Given the description of an element on the screen output the (x, y) to click on. 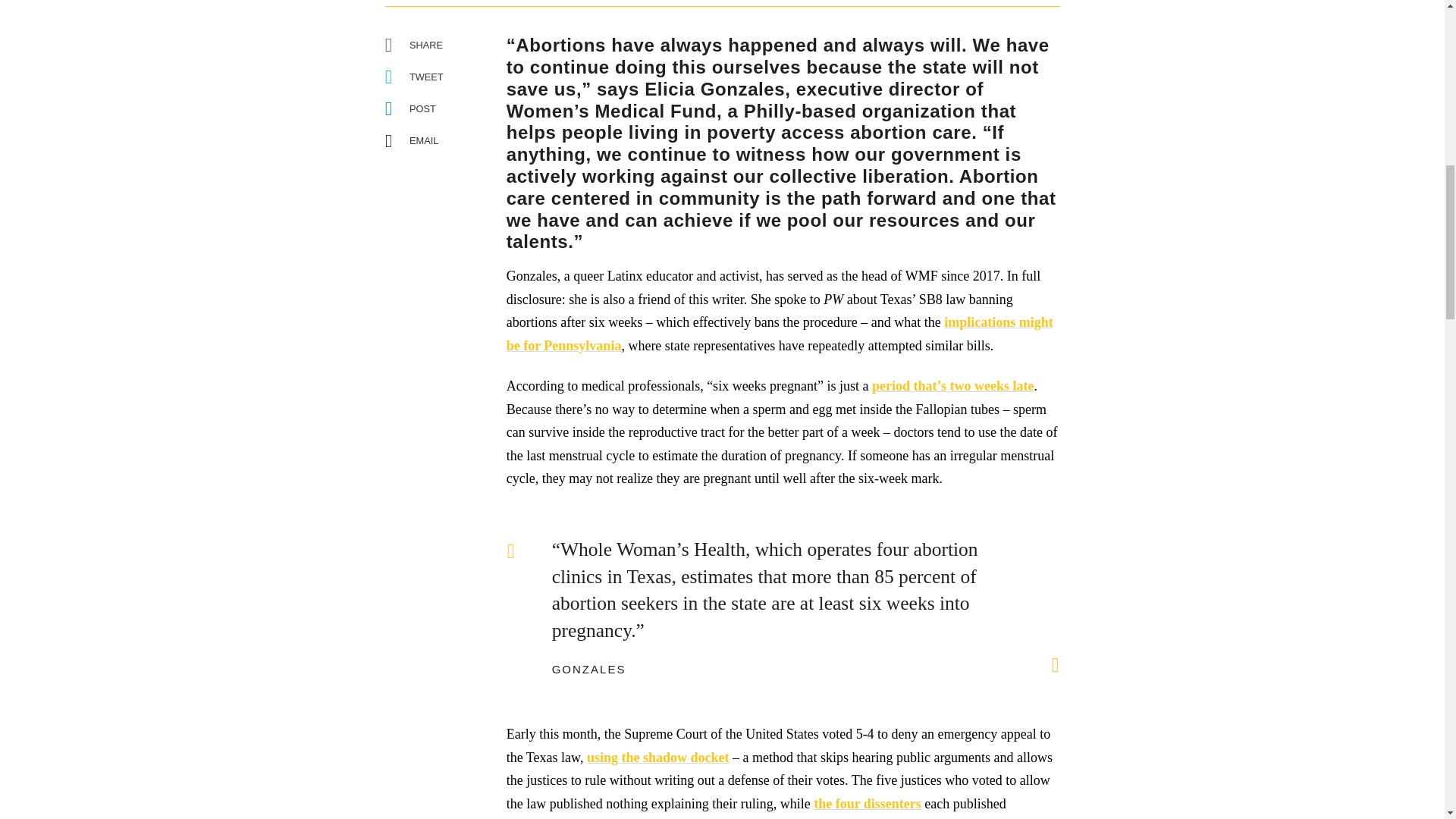
LinkedIn (411, 108)
Tweet (411, 76)
Email (417, 140)
Share on Facebook (411, 45)
